Given the description of an element on the screen output the (x, y) to click on. 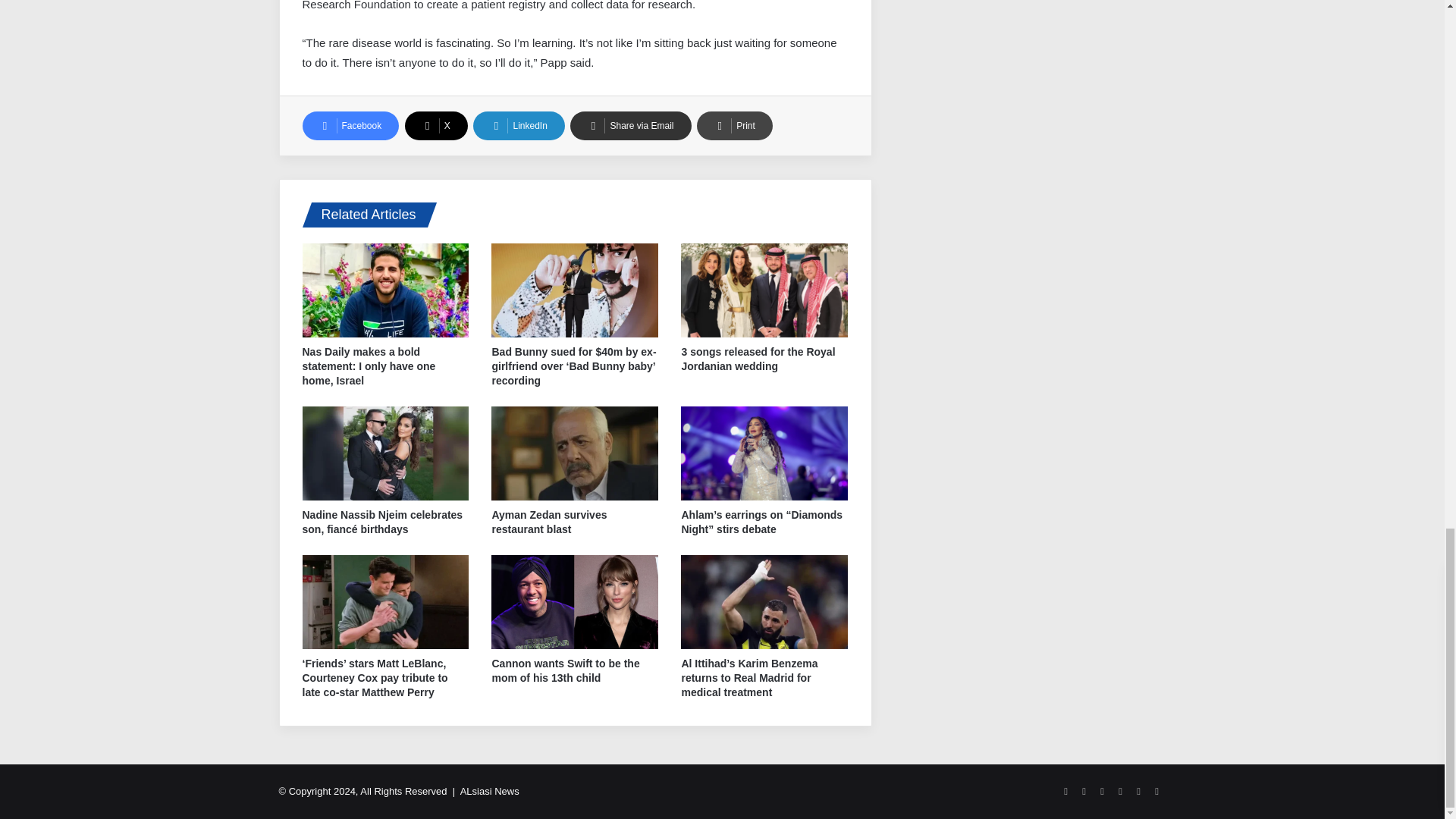
Share via Email (630, 125)
Ayman Zedan survives restaurant blast (549, 521)
Share via Email (630, 125)
X (435, 125)
Print (735, 125)
LinkedIn (518, 125)
X (435, 125)
Print (735, 125)
Facebook (349, 125)
LinkedIn (518, 125)
3 songs released for the Royal Jordanian wedding (757, 358)
Facebook (349, 125)
Cannon wants Swift to be the mom of his 13th child (565, 670)
